Given the description of an element on the screen output the (x, y) to click on. 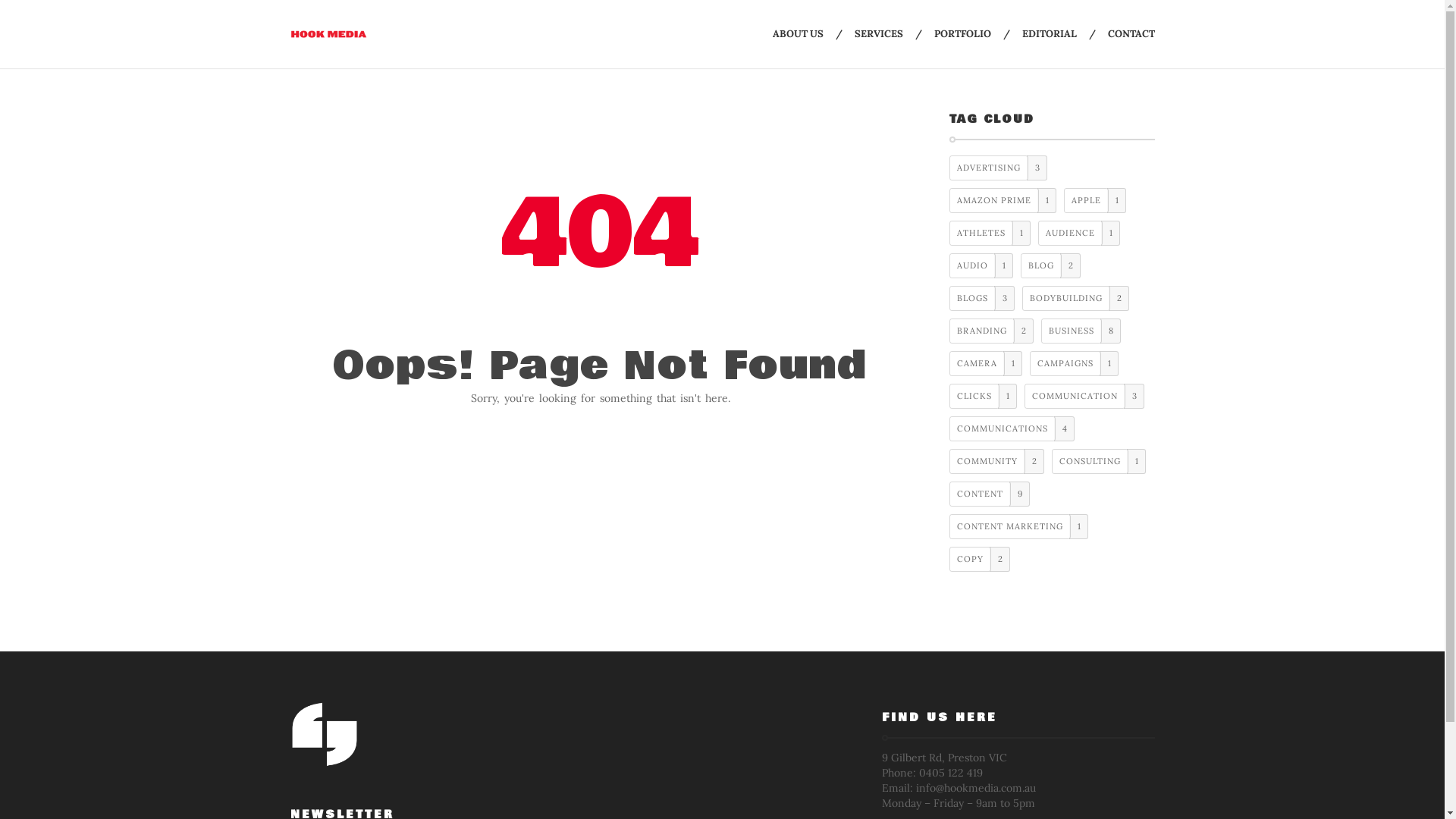
AUDIO1 Element type: text (981, 265)
SERVICES Element type: text (877, 34)
ABOUT US Element type: text (796, 34)
BLOGS3 Element type: text (981, 297)
BLOG2 Element type: text (1050, 265)
AUDIENCE1 Element type: text (1079, 232)
APPLE1 Element type: text (1094, 200)
PORTFOLIO Element type: text (962, 34)
CONSULTING1 Element type: text (1098, 460)
CONTENT MARKETING1 Element type: text (1018, 526)
ADVERTISING3 Element type: text (998, 167)
CONTACT Element type: text (1130, 34)
BUSINESS8 Element type: text (1080, 330)
Hook Media Element type: hover (327, 34)
AMAZON PRIME1 Element type: text (1002, 200)
COMMUNICATION3 Element type: text (1084, 395)
BRANDING2 Element type: text (991, 330)
ATHLETES1 Element type: text (989, 232)
CAMERA1 Element type: text (985, 363)
BODYBUILDING2 Element type: text (1075, 297)
COMMUNICATIONS4 Element type: text (1011, 428)
CONTENT9 Element type: text (989, 493)
COMMUNITY2 Element type: text (996, 460)
CLICKS1 Element type: text (982, 395)
COPY2 Element type: text (979, 558)
EDITORIAL Element type: text (1049, 34)
CAMPAIGNS1 Element type: text (1073, 363)
